Given the description of an element on the screen output the (x, y) to click on. 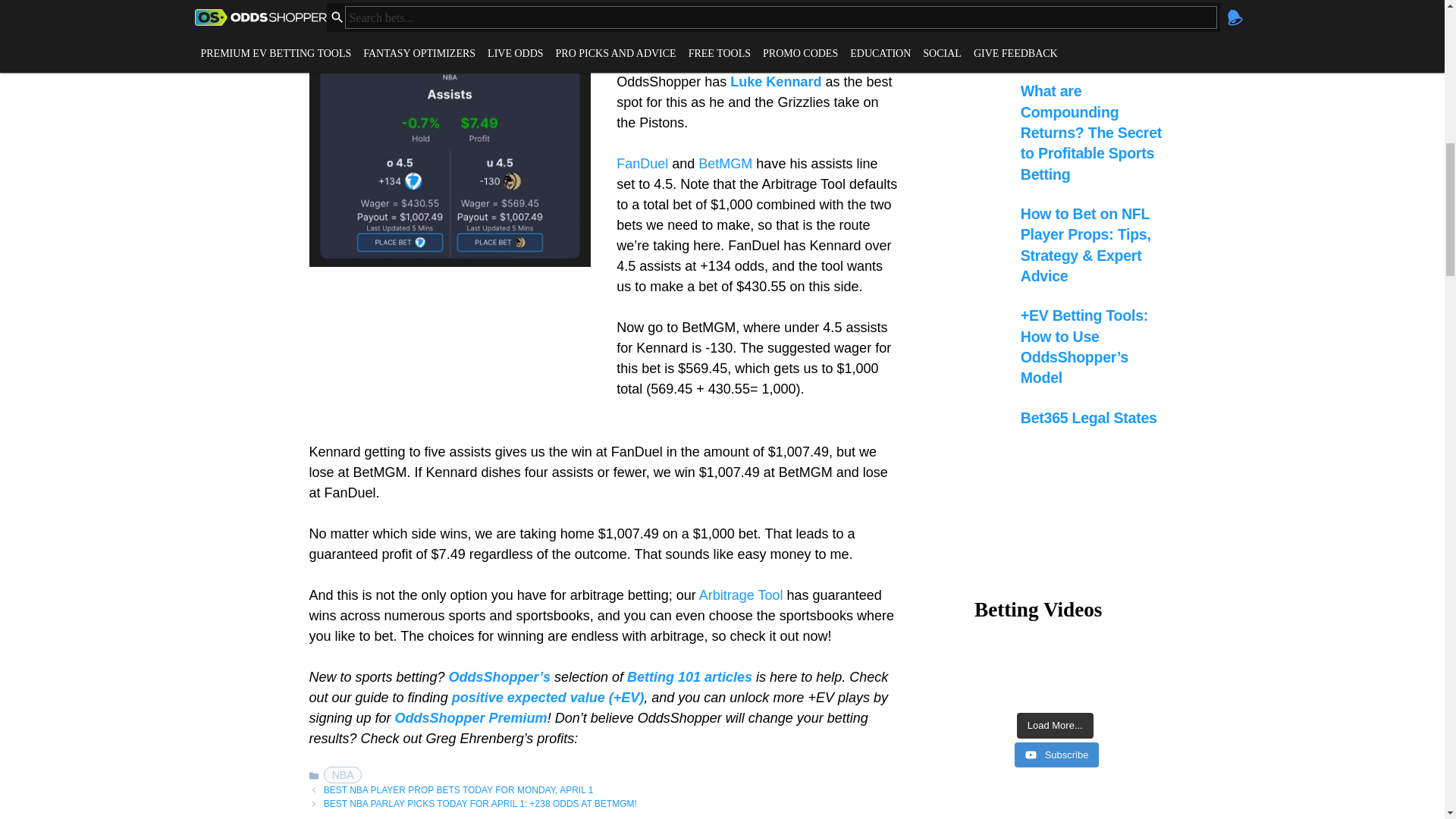
Luke Kennard (775, 81)
Betting 101 articles (689, 676)
NBA (342, 774)
OddsShopper Premium (470, 717)
Best Bets for Luke Kennard (775, 81)
BetMGM (726, 163)
FanDuel (643, 163)
Arbitrage Tool (740, 595)
